Given the description of an element on the screen output the (x, y) to click on. 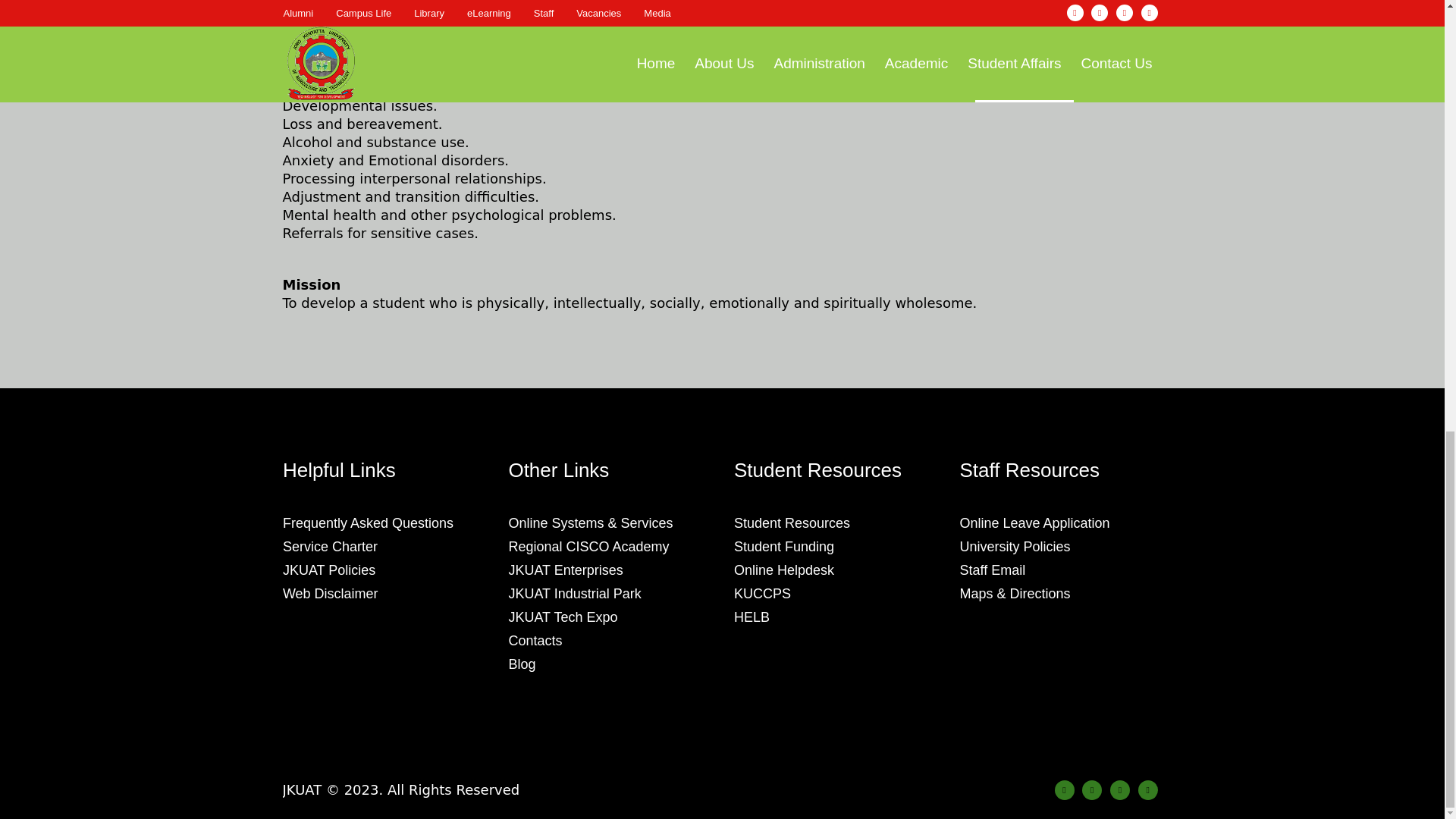
Instagram (1091, 790)
YouTube (1147, 790)
Twitter (1119, 790)
Service Charter (329, 546)
Facebook (1064, 790)
Discover JKUAT Blog (521, 663)
Frequently Asked Questions (367, 522)
